Given the description of an element on the screen output the (x, y) to click on. 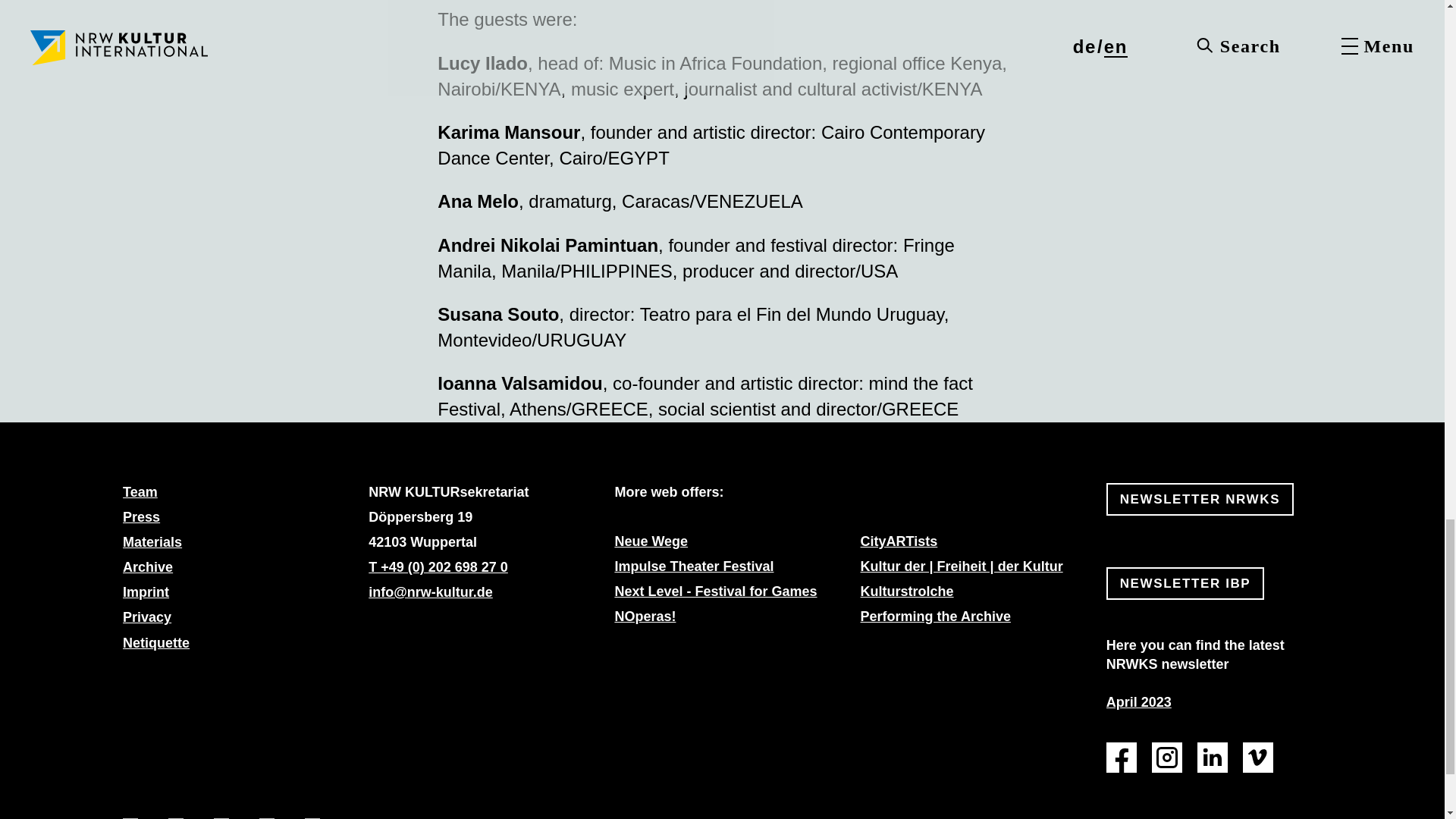
Materials (152, 541)
Press (141, 516)
Imprint (145, 591)
Zu unserem Archiv (147, 566)
Archive (147, 566)
Privacy (146, 616)
Netiquette (155, 642)
NRW KULTURsekretariat auf Instagram (1166, 757)
NRW KULTURsekretariat auf Facebook (1121, 757)
Team (139, 491)
